Given the description of an element on the screen output the (x, y) to click on. 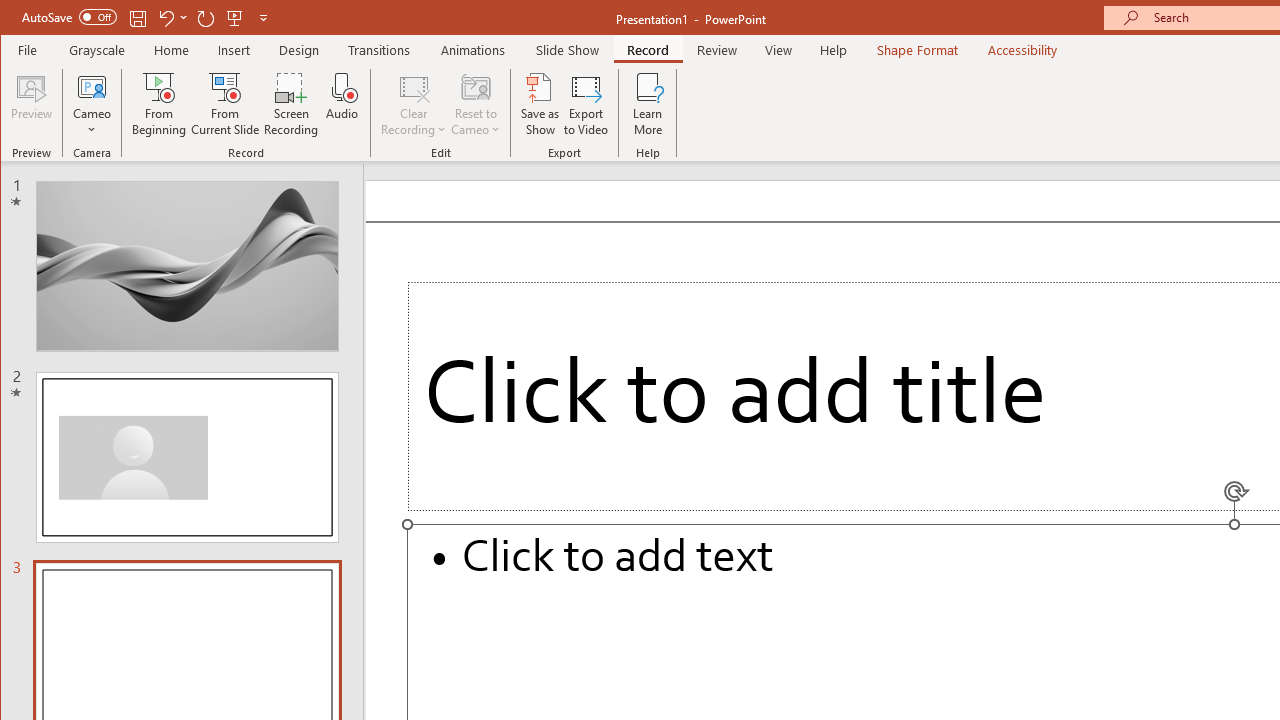
Export to Video (585, 104)
Cameo (91, 104)
Save (138, 17)
Grayscale (97, 50)
Accessibility (1023, 50)
File Tab (28, 49)
From Beginning... (159, 104)
Audio (342, 104)
Insert (233, 50)
Cameo (91, 86)
From Current Slide... (225, 104)
